Given the description of an element on the screen output the (x, y) to click on. 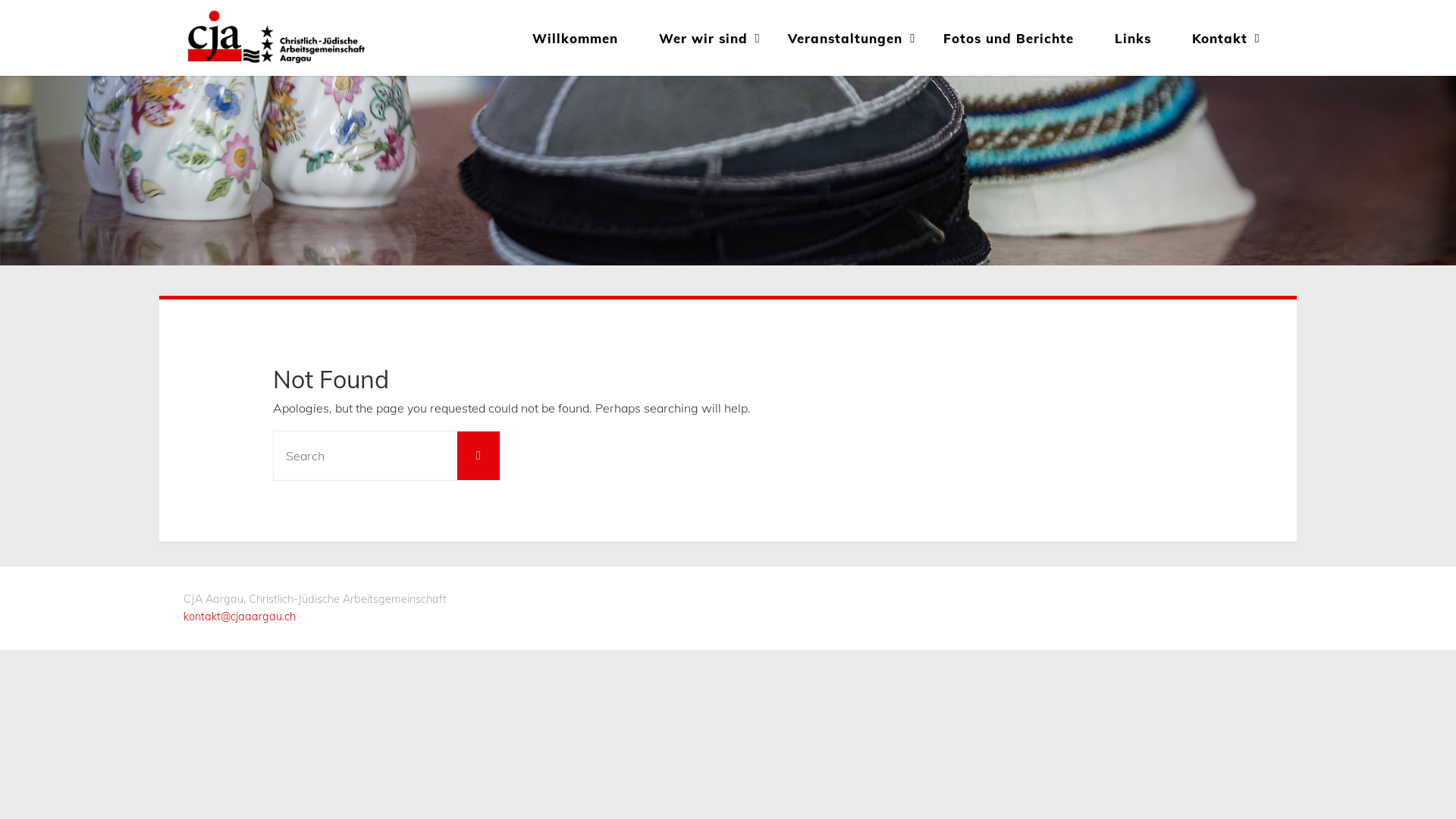
Veranstaltungen Element type: text (845, 37)
Fotos und Berichte Element type: text (1008, 37)
Kontakt Element type: text (1219, 37)
Wer wir sind Element type: text (703, 37)
kontakt@cjaaargau.ch Element type: text (239, 616)
Links Element type: text (1132, 37)
Willkommen Element type: text (574, 37)
CJA Aargau Element type: hover (276, 37)
Search Element type: text (478, 455)
